Given the description of an element on the screen output the (x, y) to click on. 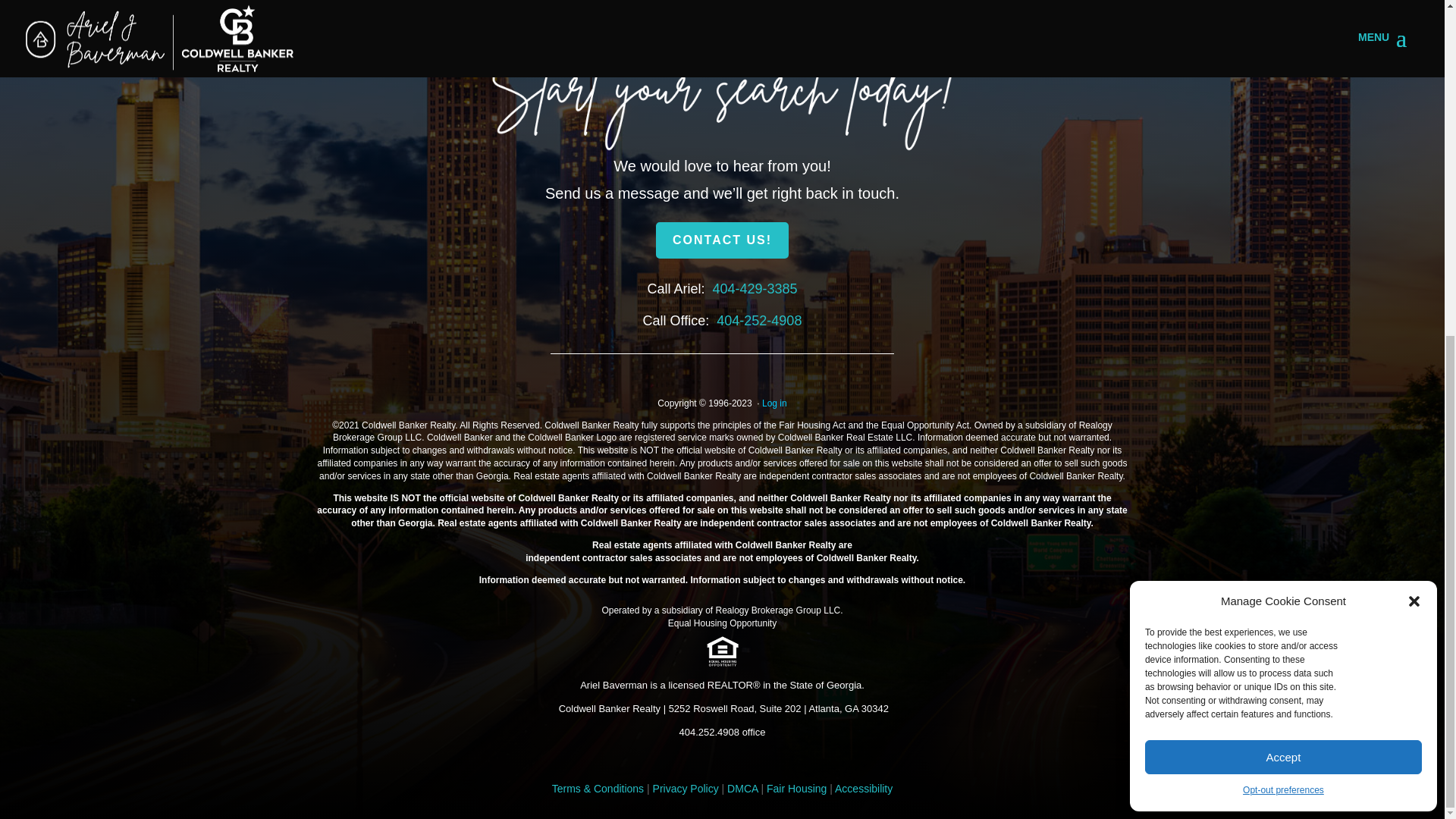
equal-housing (721, 650)
Opt-out preferences (1283, 226)
Accept (1283, 192)
